Given the description of an element on the screen output the (x, y) to click on. 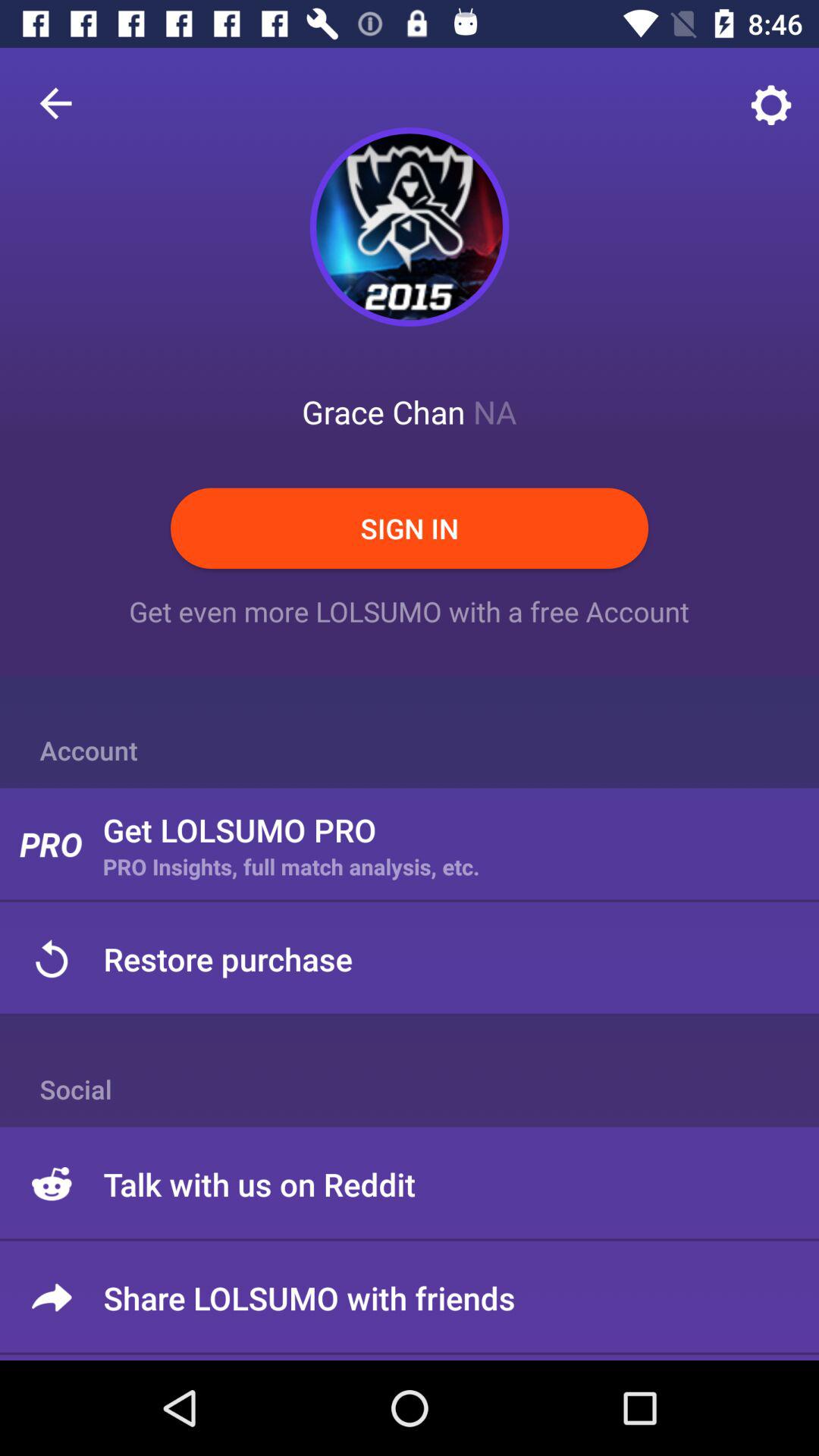
open the icon above account (55, 103)
